Given the description of an element on the screen output the (x, y) to click on. 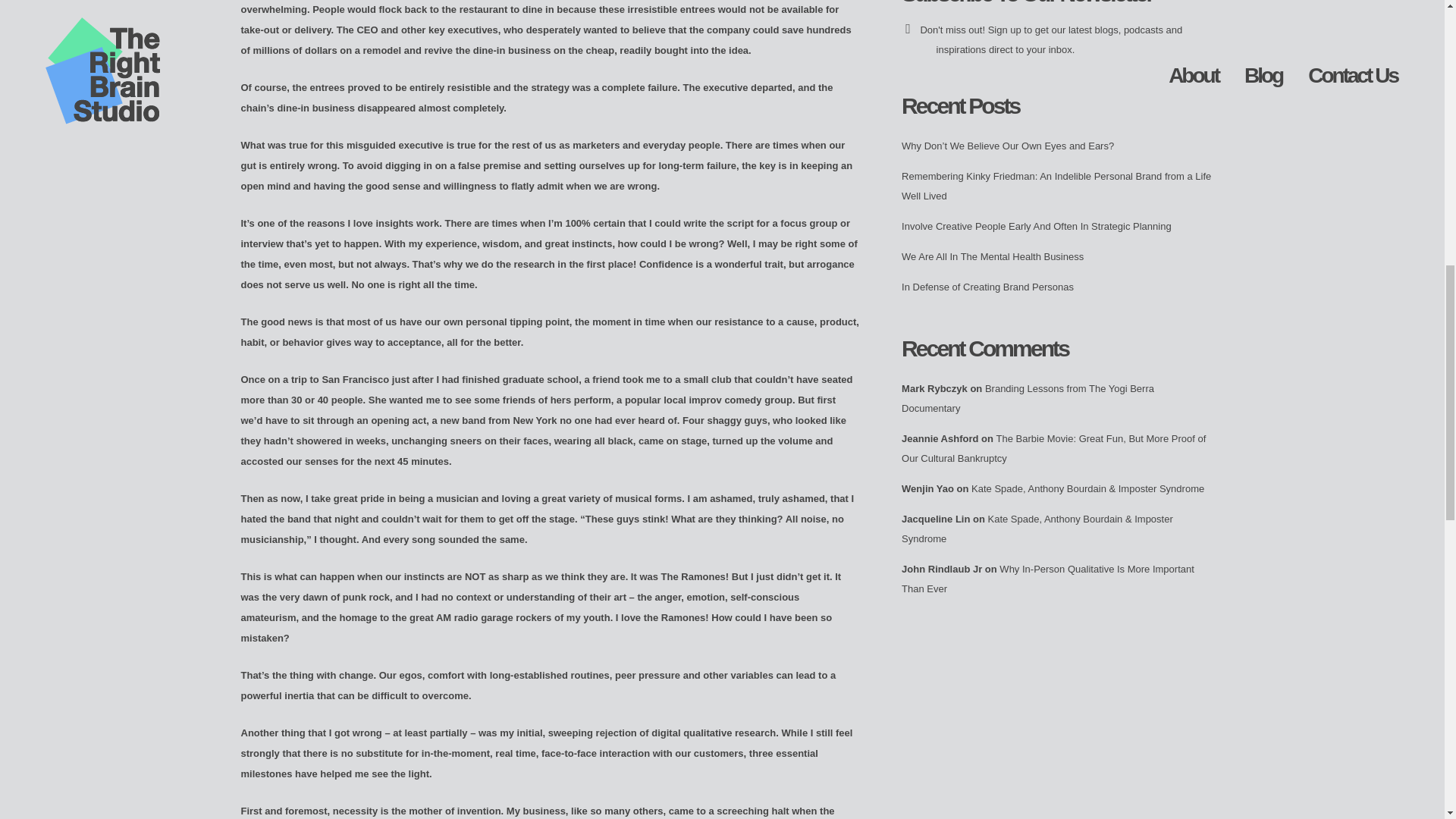
Branding Lessons from The Yogi Berra Documentary (1027, 398)
Why In-Person Qualitative Is More Important Than Ever (1047, 578)
We Are All In The Mental Health Business (992, 256)
In Defense of Creating Brand Personas (987, 286)
